Given the description of an element on the screen output the (x, y) to click on. 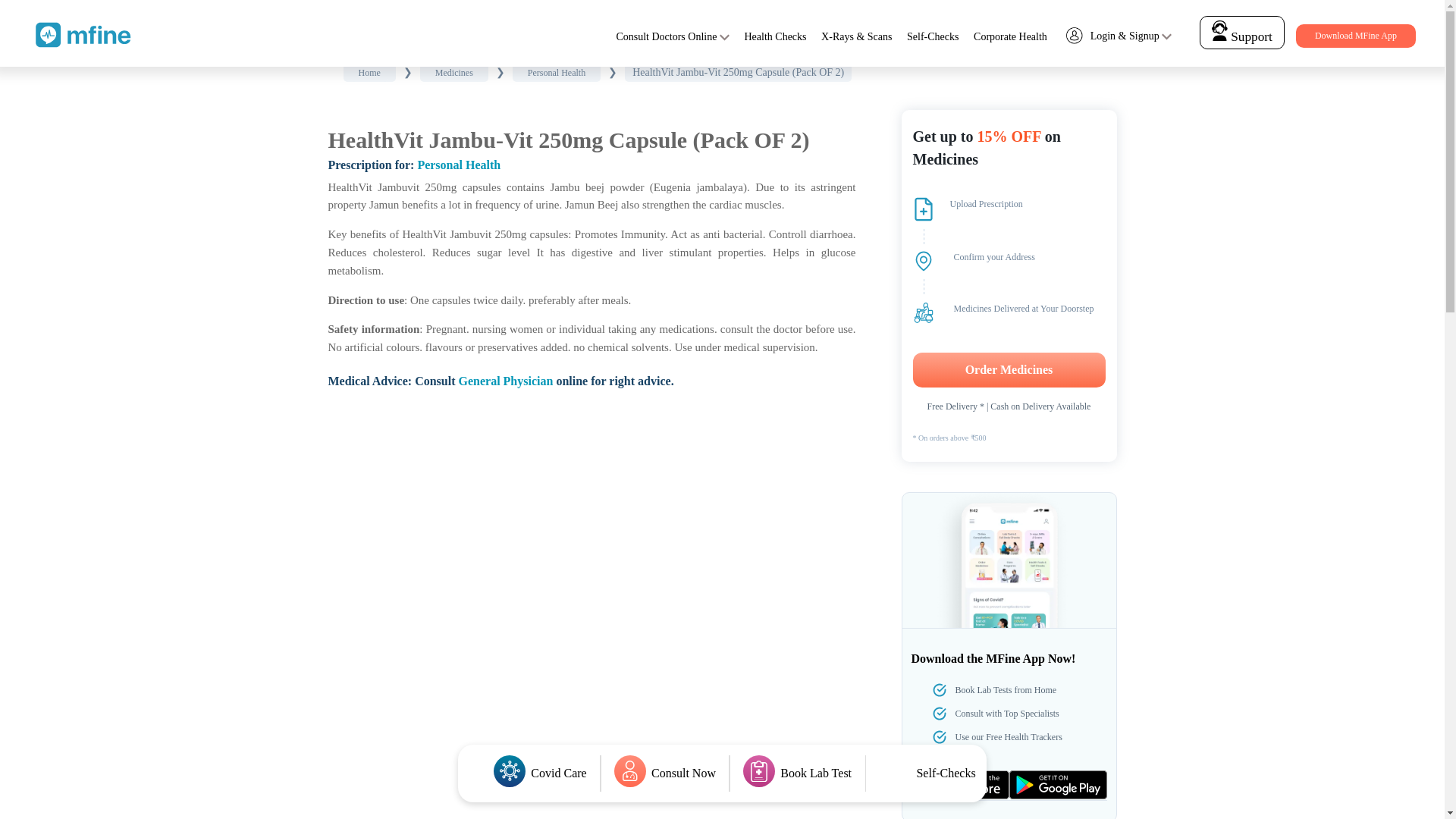
Consult Doctors Online (665, 36)
Download MFine App (1355, 35)
Support (1241, 32)
Corporate Health (1010, 36)
Self-Checks (932, 36)
Health Checks (775, 36)
Support (1241, 36)
